Given the description of an element on the screen output the (x, y) to click on. 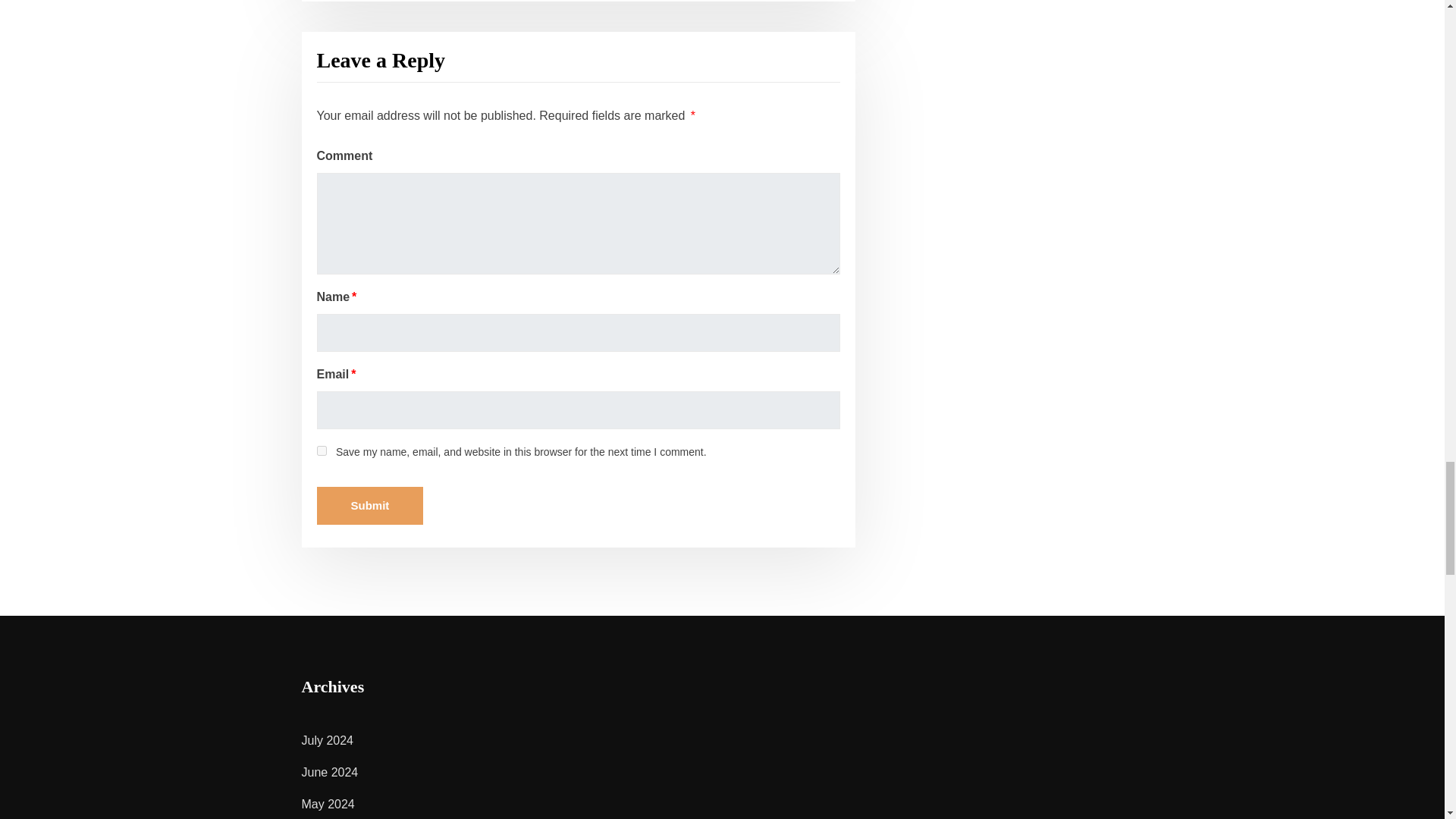
July 2024 (327, 739)
Submit (370, 505)
Submit (370, 505)
yes (321, 450)
May 2024 (328, 803)
June 2024 (329, 771)
